Given the description of an element on the screen output the (x, y) to click on. 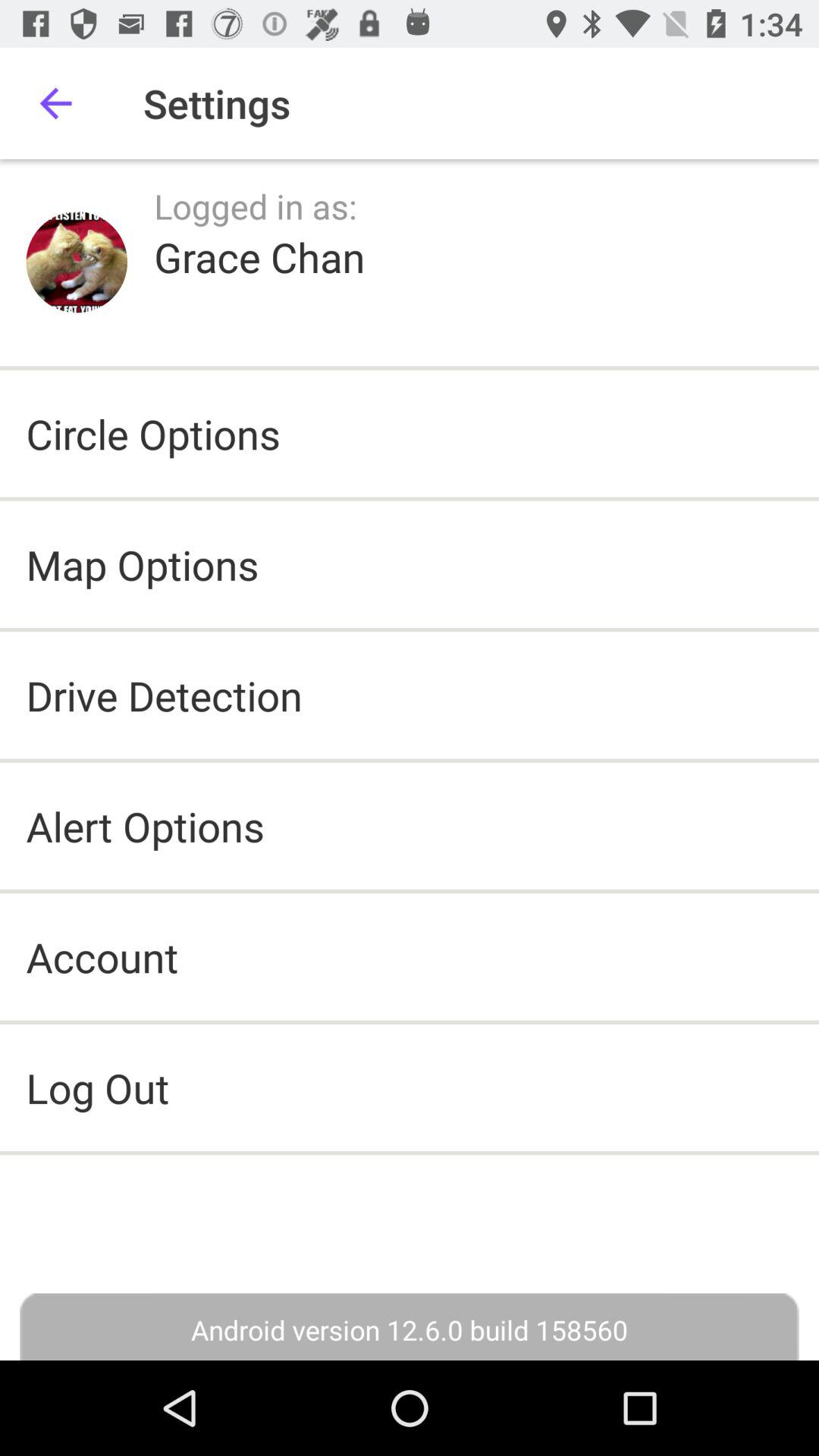
swipe until account icon (102, 956)
